Given the description of an element on the screen output the (x, y) to click on. 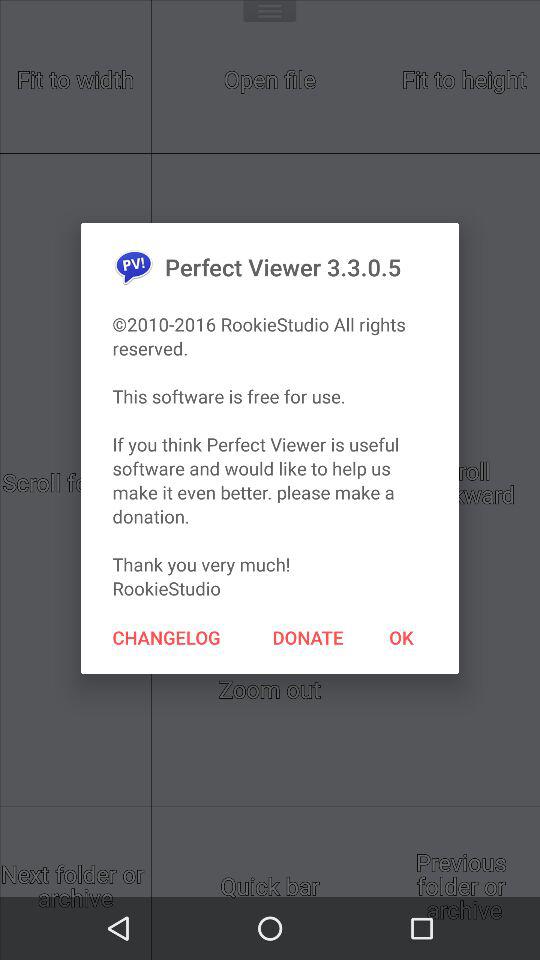
choose the item on the right (401, 637)
